Given the description of an element on the screen output the (x, y) to click on. 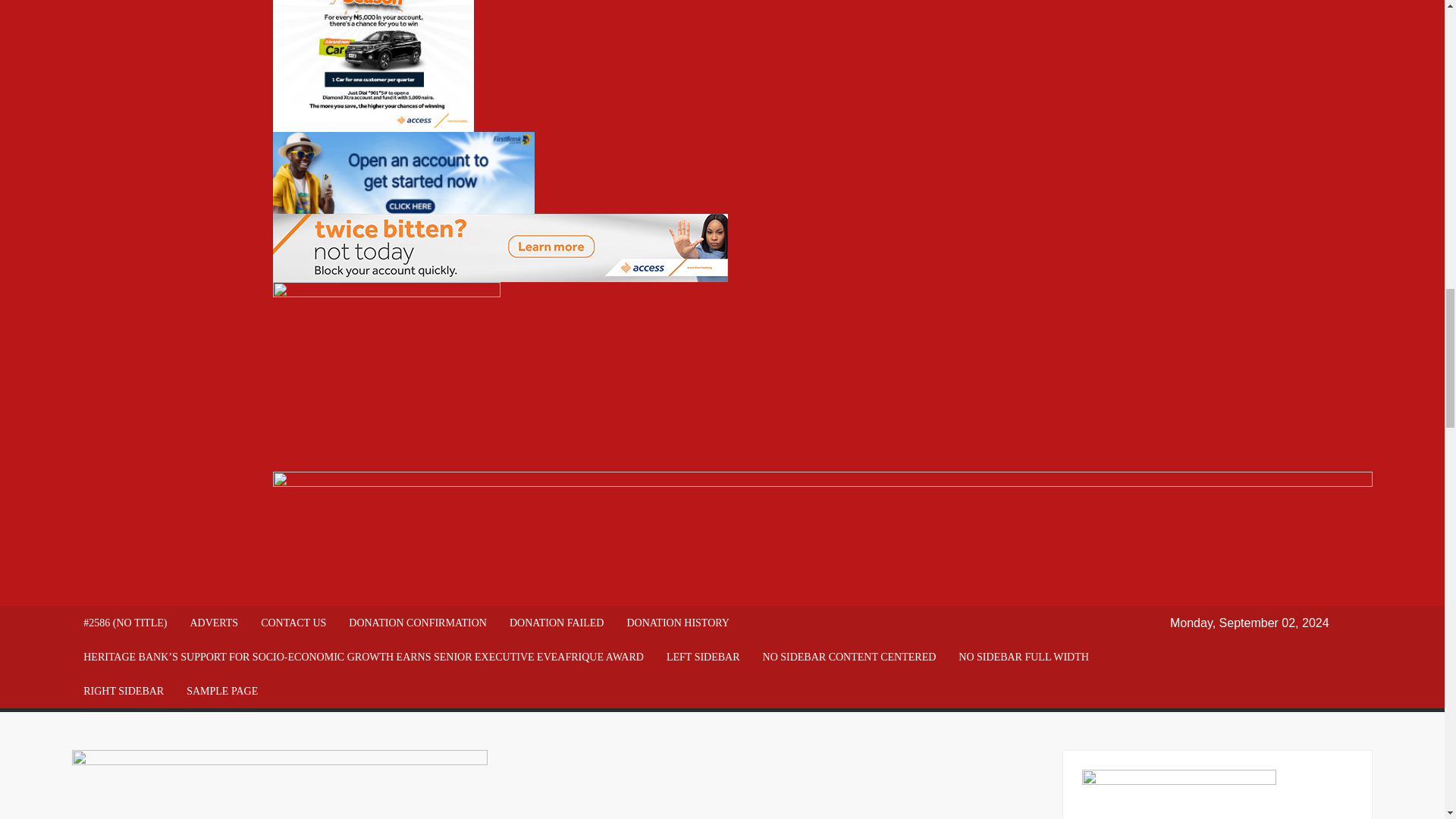
NO SIDEBAR CONTENT CENTERED (849, 656)
LEFT SIDEBAR (703, 656)
NO SIDEBAR FULL WIDTH (1023, 656)
DONATION CONFIRMATION (417, 622)
CONTACT US (292, 622)
DONATION HISTORY (676, 622)
ADVERTS (212, 622)
DONATION FAILED (556, 622)
